Given the description of an element on the screen output the (x, y) to click on. 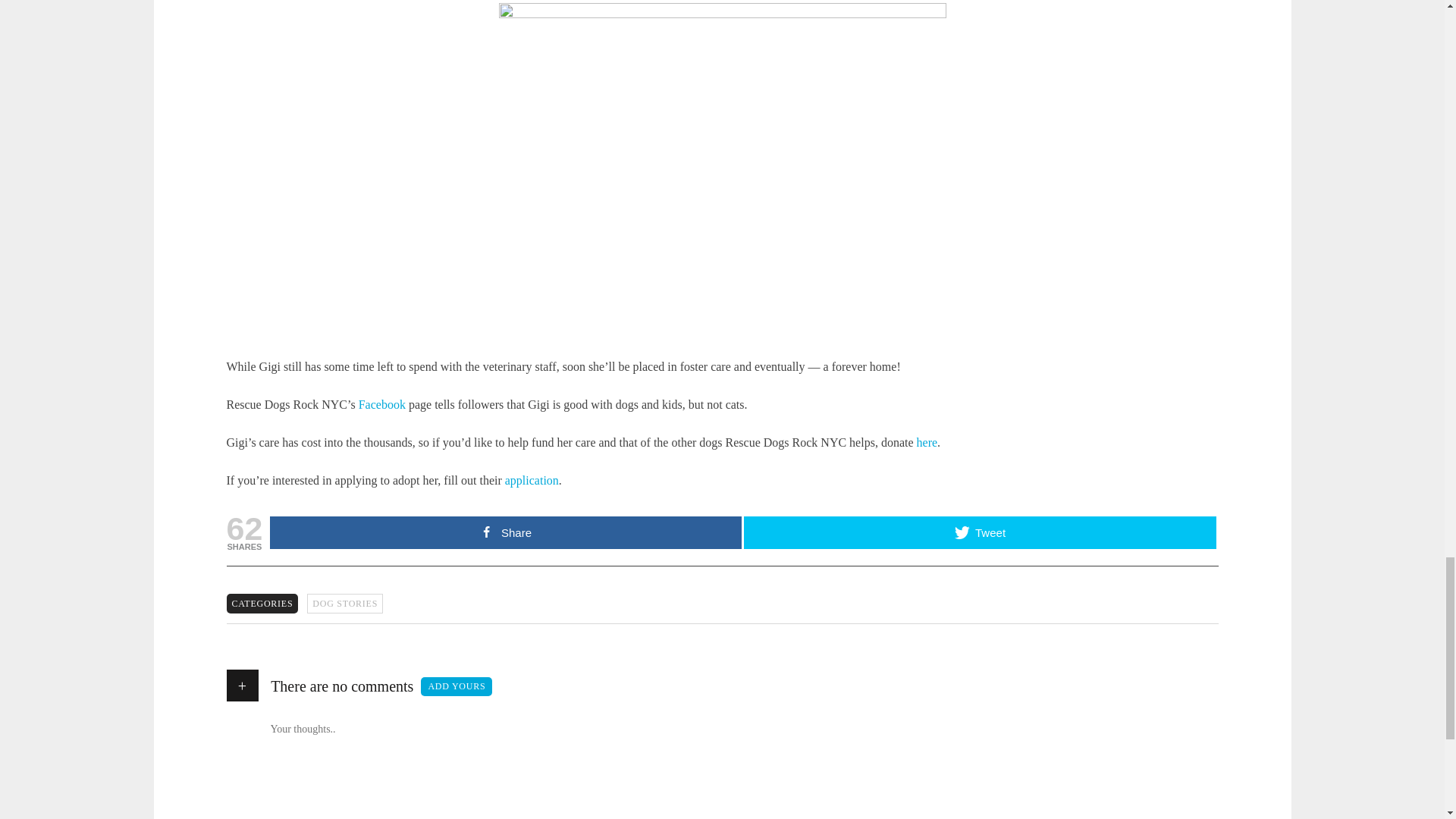
here (927, 441)
View all posts in Dog Stories (344, 603)
Share (505, 532)
application (532, 480)
Facebook (382, 404)
ADD YOURS (456, 686)
Tweet (979, 532)
DOG STORIES (344, 603)
